Given the description of an element on the screen output the (x, y) to click on. 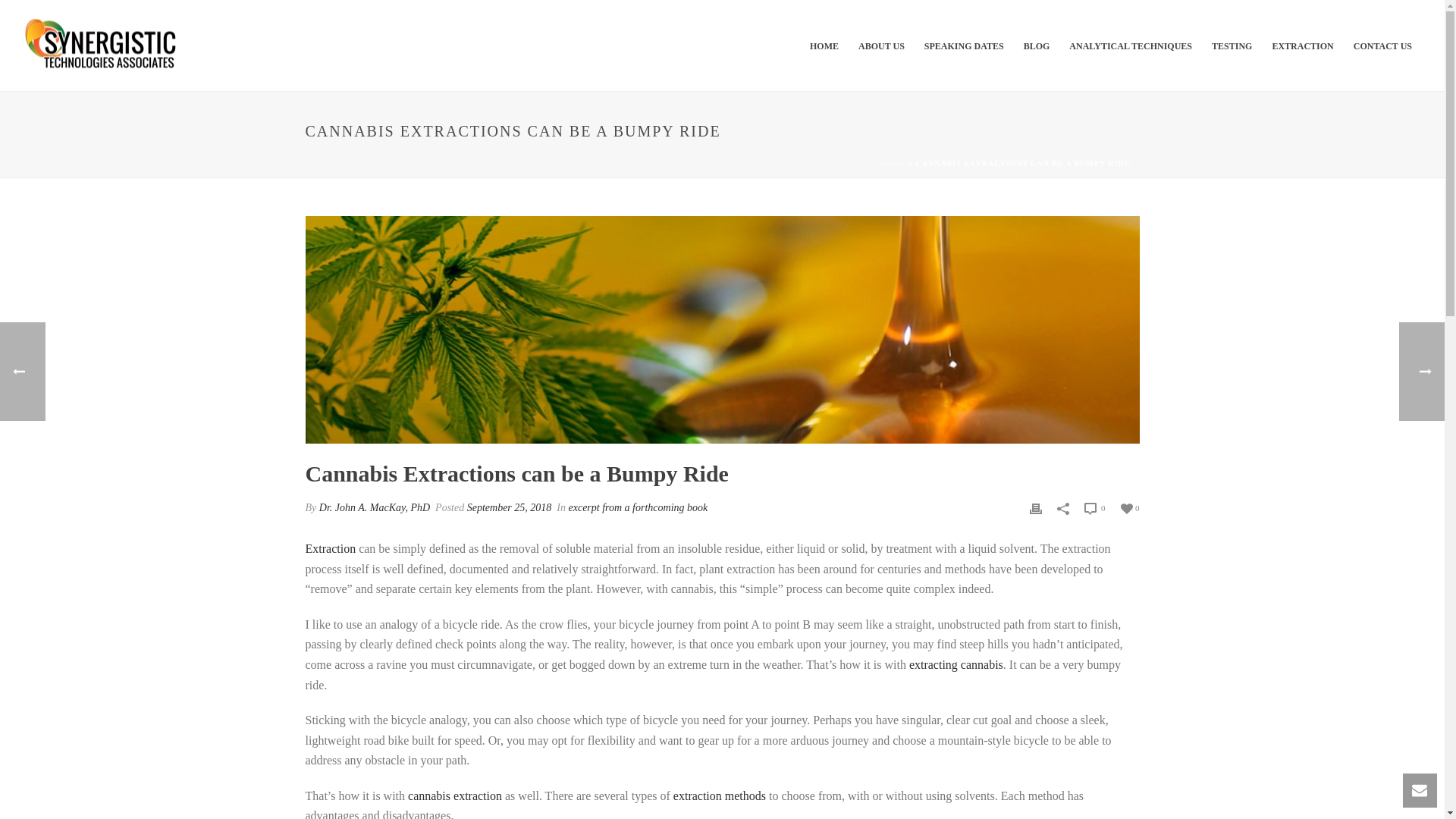
ANALYTICAL TECHNIQUES (1130, 45)
ANALYTICAL TECHNIQUES (1130, 45)
EXTRACTION (1302, 45)
EXTRACTION (1302, 45)
TESTING (1232, 45)
SPEAKING DATES (963, 45)
SPEAKING DATES (963, 45)
Posts by Dr. John A. MacKay, PhD (373, 507)
Extraction efficiency experts (101, 44)
